Given the description of an element on the screen output the (x, y) to click on. 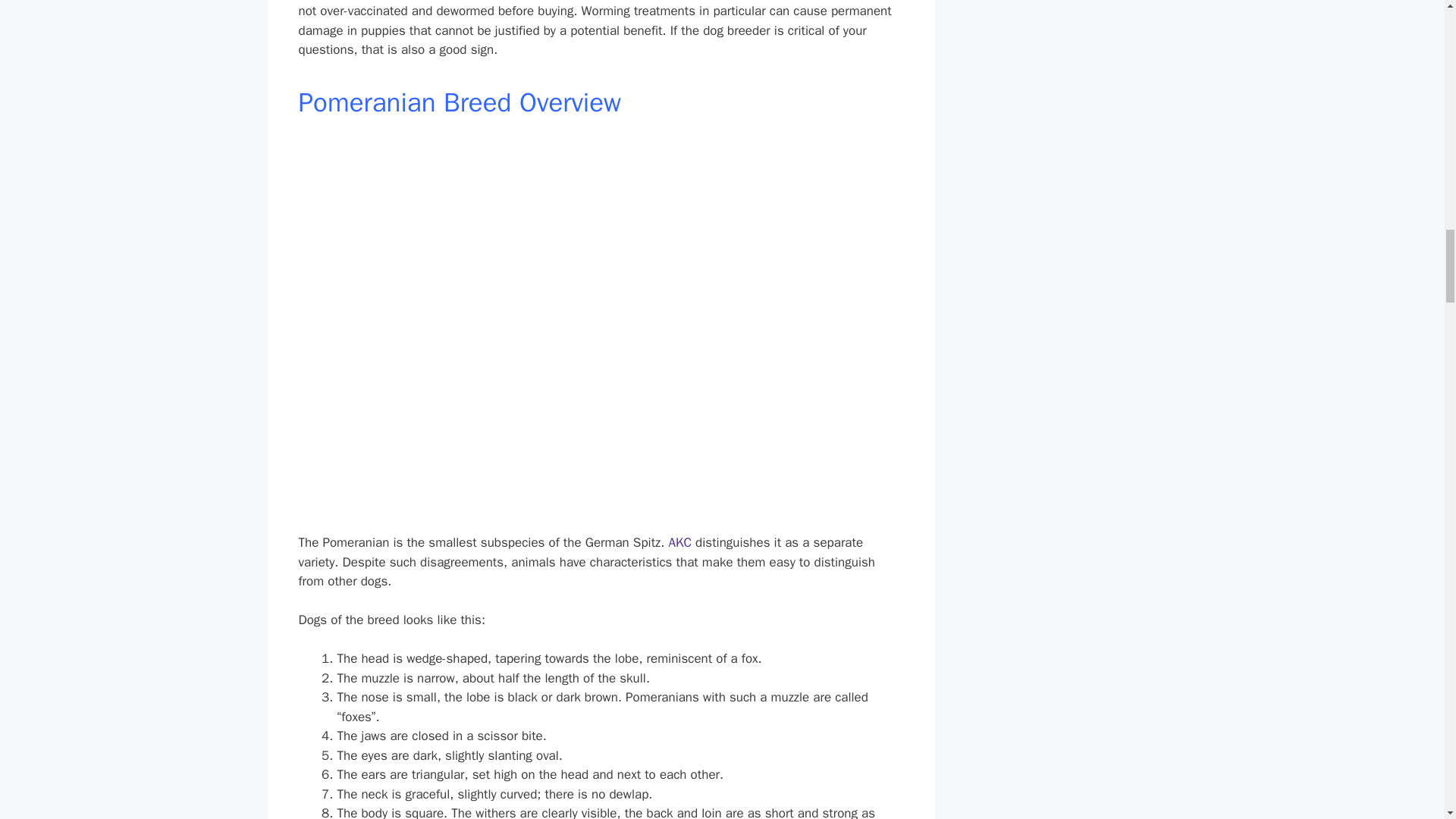
AKC (679, 542)
